Given the description of an element on the screen output the (x, y) to click on. 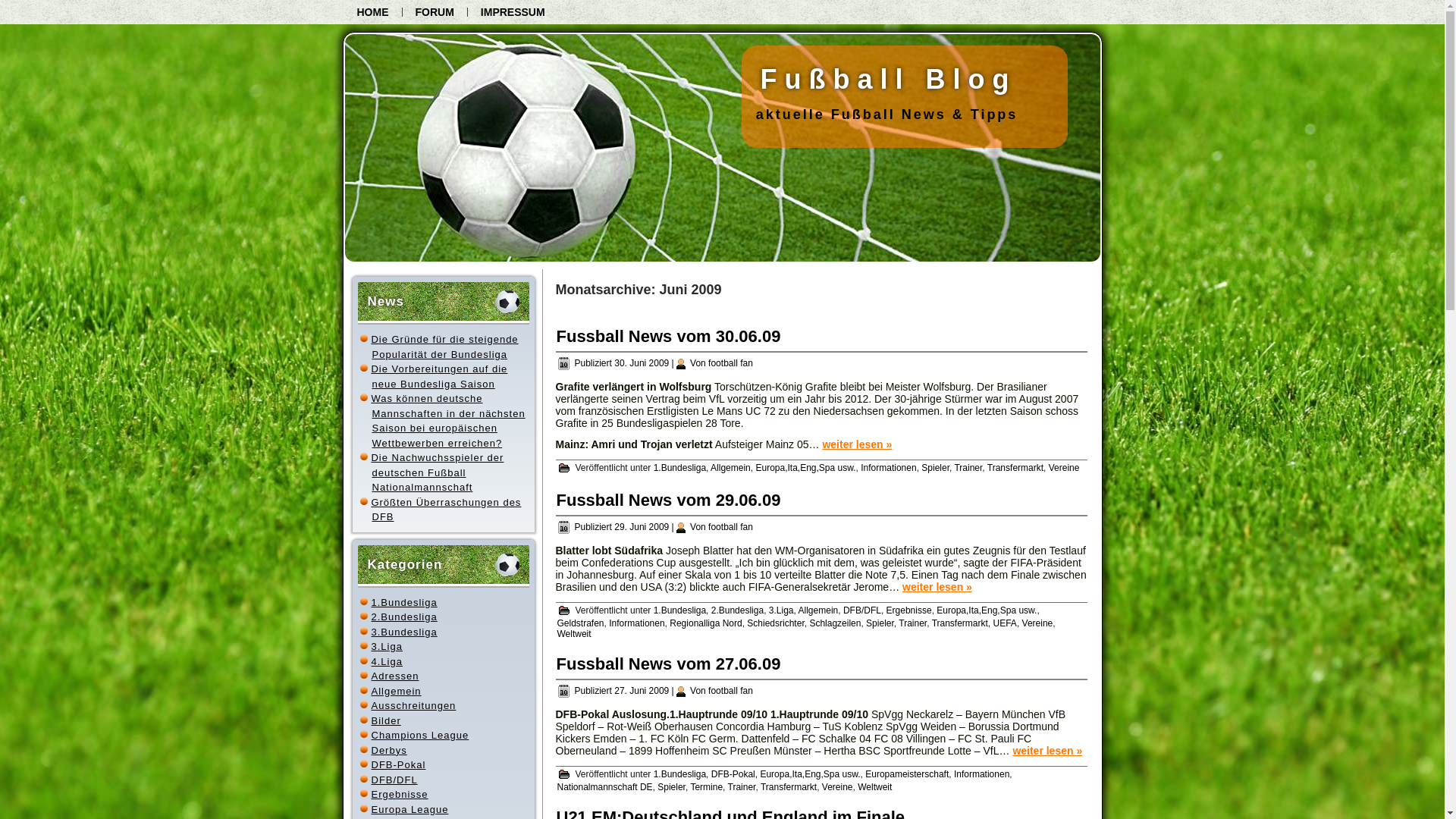
Europa,Ita,Eng,Spa usw. Element type: text (986, 610)
Champions League Element type: text (420, 734)
Vereine Element type: text (1037, 623)
2.Bundesliga Element type: text (737, 610)
Fussball News vom 30.06.09 Element type: text (668, 335)
Informationen Element type: text (888, 467)
Europameisterschaft Element type: text (906, 773)
football fan Element type: text (730, 526)
Ergebnisse Element type: text (399, 794)
IMPRESSUM Element type: text (512, 12)
Weltweit Element type: text (874, 786)
Adressen Element type: text (395, 675)
Transfermarkt Element type: text (788, 786)
Die Vorbereitungen auf die neue Bundesliga Saison Element type: text (438, 376)
Spieler Element type: text (671, 786)
Spieler Element type: text (880, 623)
UEFA Element type: text (1004, 623)
Geldstrafen Element type: text (579, 623)
1.Bundesliga Element type: text (679, 610)
Transfermarkt Element type: text (959, 623)
Regionalliga Nord Element type: text (705, 623)
Fussball News vom 27.06.09 Element type: text (668, 663)
Ergebnisse Element type: text (908, 610)
Schlagzeilen Element type: text (834, 623)
Informationen Element type: text (636, 623)
Nationalmannschaft DE Element type: text (604, 786)
1.Bundesliga Element type: text (679, 773)
Europa,Ita,Eng,Spa usw. Element type: text (805, 467)
Allgemein Element type: text (730, 467)
DFB/DFL Element type: text (862, 610)
Europa League Element type: text (409, 809)
Informationen Element type: text (981, 773)
football fan Element type: text (730, 690)
Allgemein Element type: text (818, 610)
HOME Element type: text (372, 12)
Schiedsrichter Element type: text (774, 623)
Trainer Element type: text (967, 467)
3.Liga Element type: text (780, 610)
Spieler Element type: text (935, 467)
Europa,Ita,Eng,Spa usw. Element type: text (809, 773)
2.Bundesliga Element type: text (404, 616)
Derbys Element type: text (389, 750)
Trainer Element type: text (912, 623)
Transfermarkt Element type: text (1015, 467)
Vereine Element type: text (837, 786)
Termine Element type: text (706, 786)
DFB-Pokal Element type: text (733, 773)
Fussball News vom 29.06.09 Element type: text (668, 499)
Weltweit Element type: text (573, 633)
Vereine Element type: text (1063, 467)
1.Bundesliga Element type: text (404, 601)
FORUM Element type: text (433, 12)
Bilder Element type: text (386, 719)
DFB-Pokal Element type: text (398, 764)
DFB/DFL Element type: text (394, 778)
Allgemein Element type: text (396, 690)
football fan Element type: text (730, 362)
3.Bundesliga Element type: text (404, 631)
4.Liga Element type: text (386, 660)
1.Bundesliga Element type: text (679, 467)
Ausschreitungen Element type: text (413, 705)
Trainer Element type: text (742, 786)
3.Liga Element type: text (386, 646)
